Given the description of an element on the screen output the (x, y) to click on. 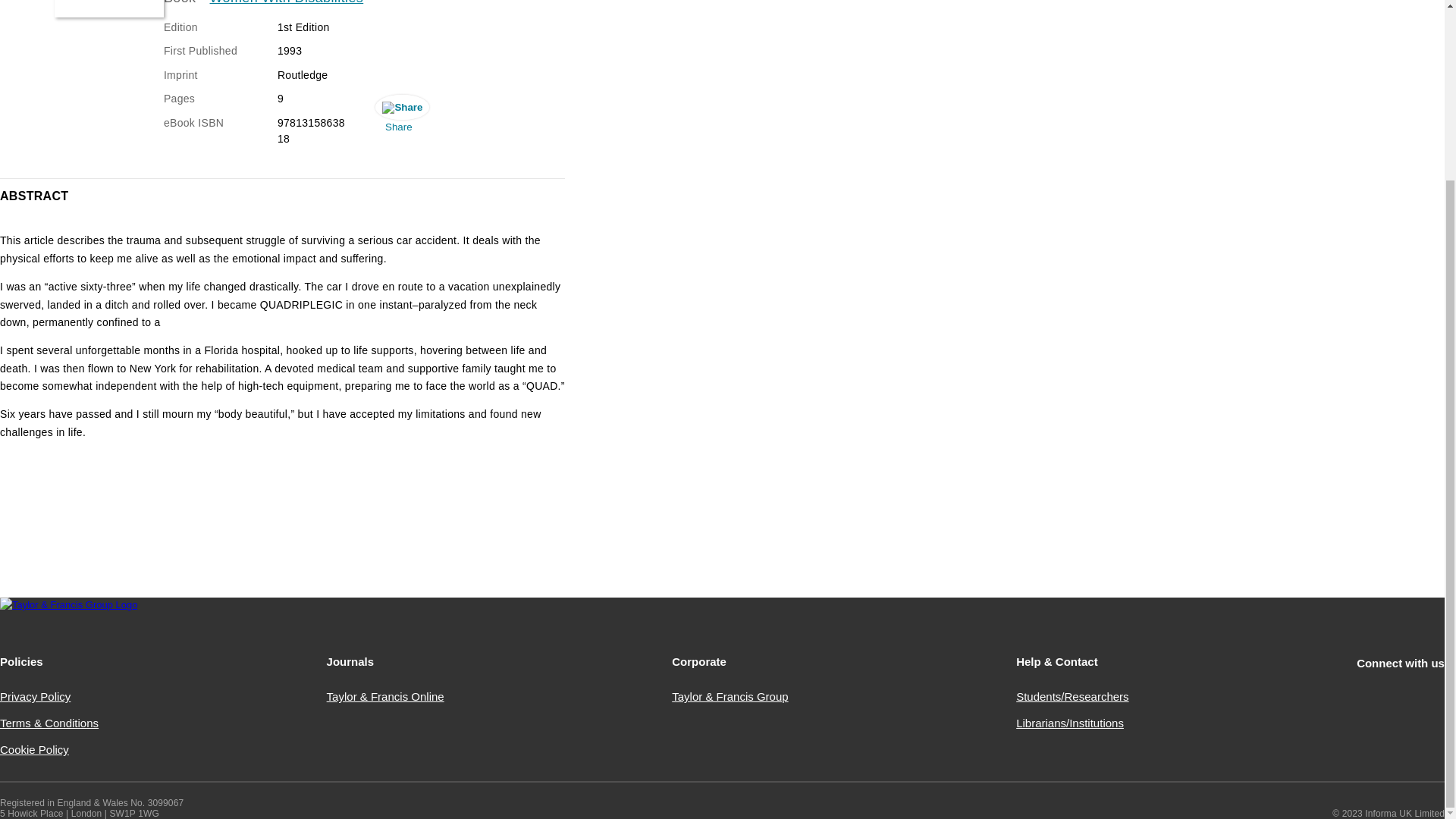
Privacy Policy (34, 696)
Survival (109, 8)
Cookie Policy (34, 749)
Share (398, 117)
Women With Disabilities (286, 4)
